Given the description of an element on the screen output the (x, y) to click on. 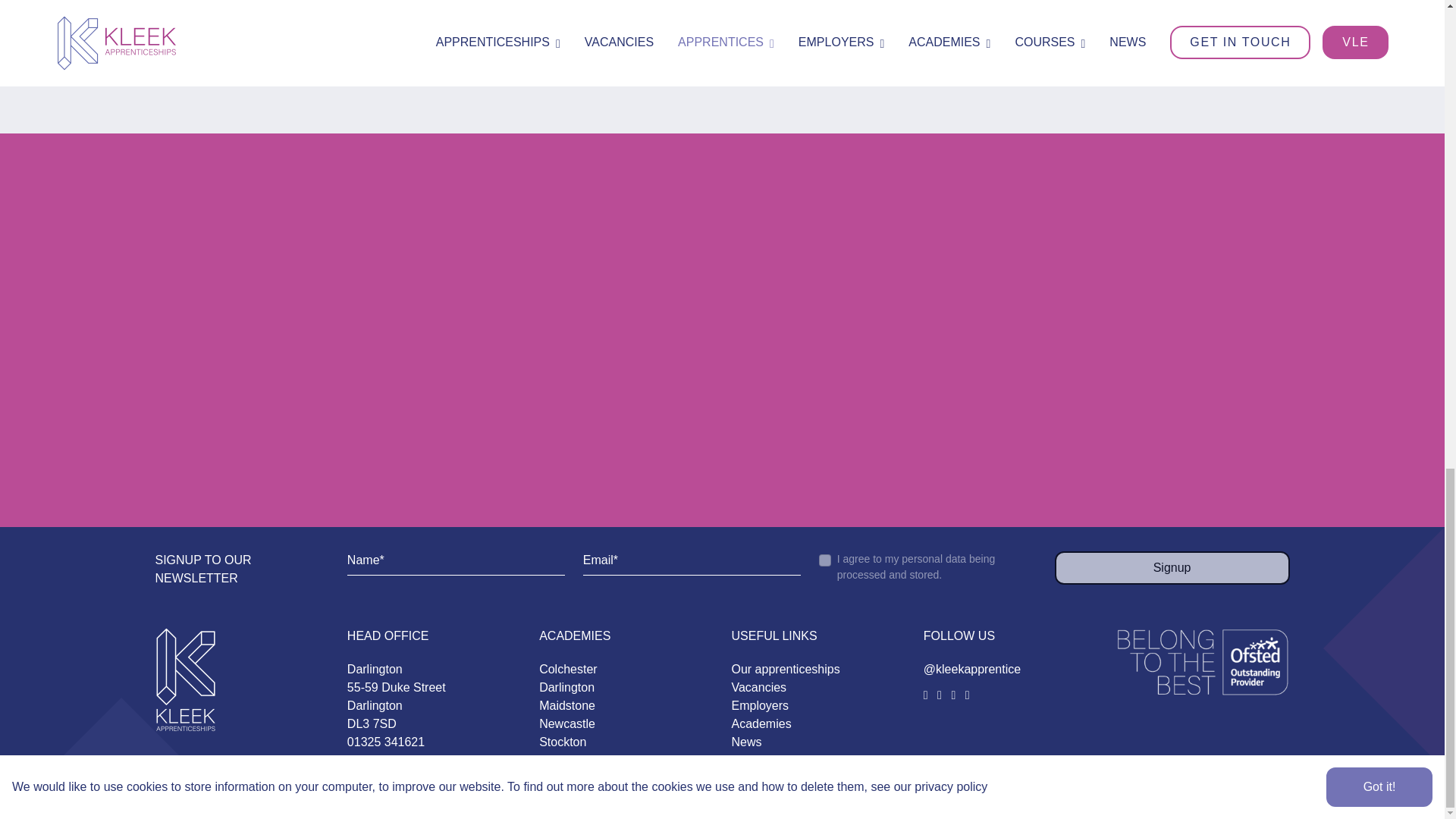
Signup (1172, 567)
true (824, 560)
